Given the description of an element on the screen output the (x, y) to click on. 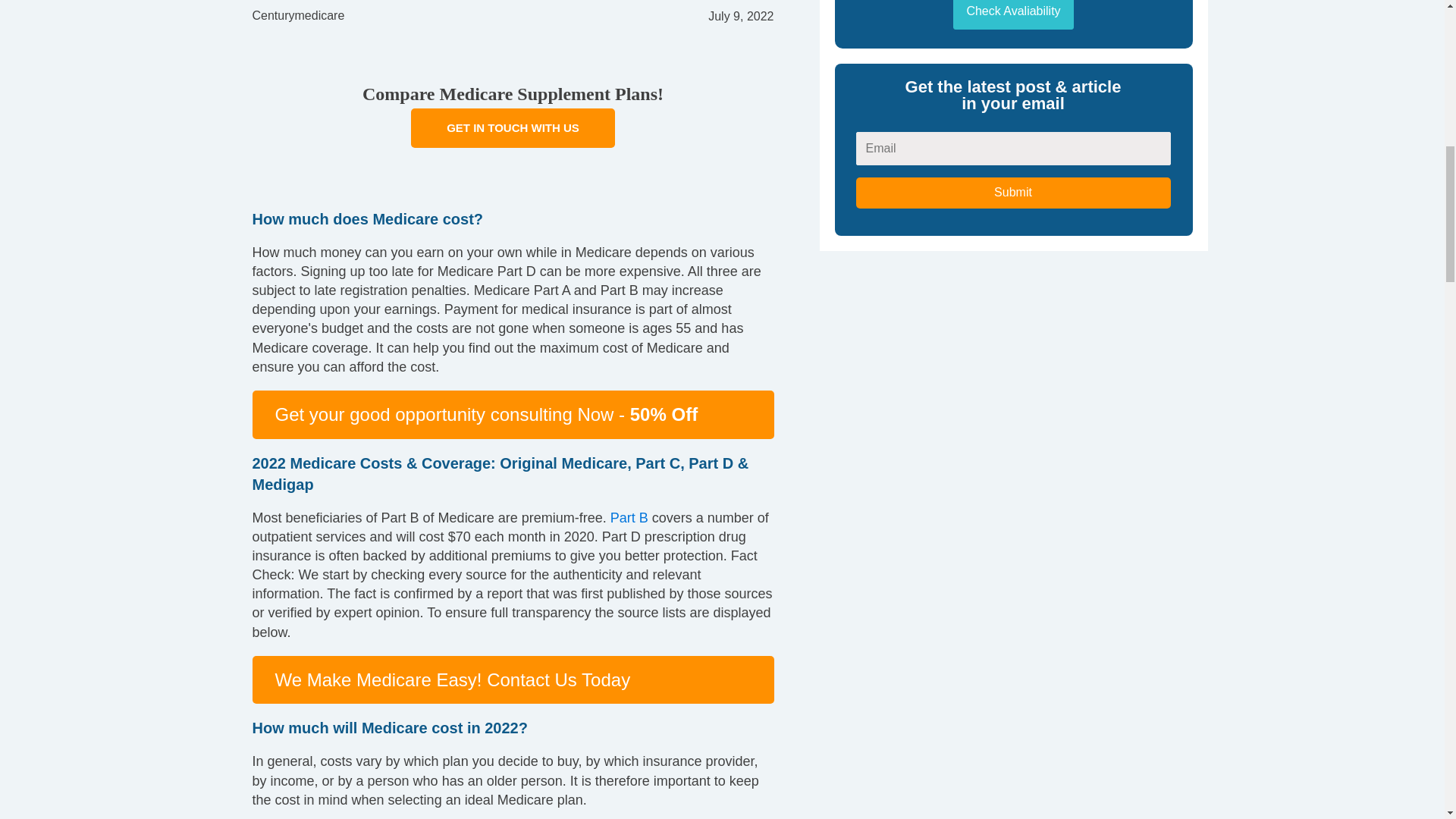
Part B (628, 517)
GET IN TOUCH WITH US (512, 127)
Submit (1013, 192)
Check Avaliability (1013, 14)
GET IN TOUCH WITH US (512, 127)
We Make Medicare Easy! Contact Us Today (452, 679)
